Given the description of an element on the screen output the (x, y) to click on. 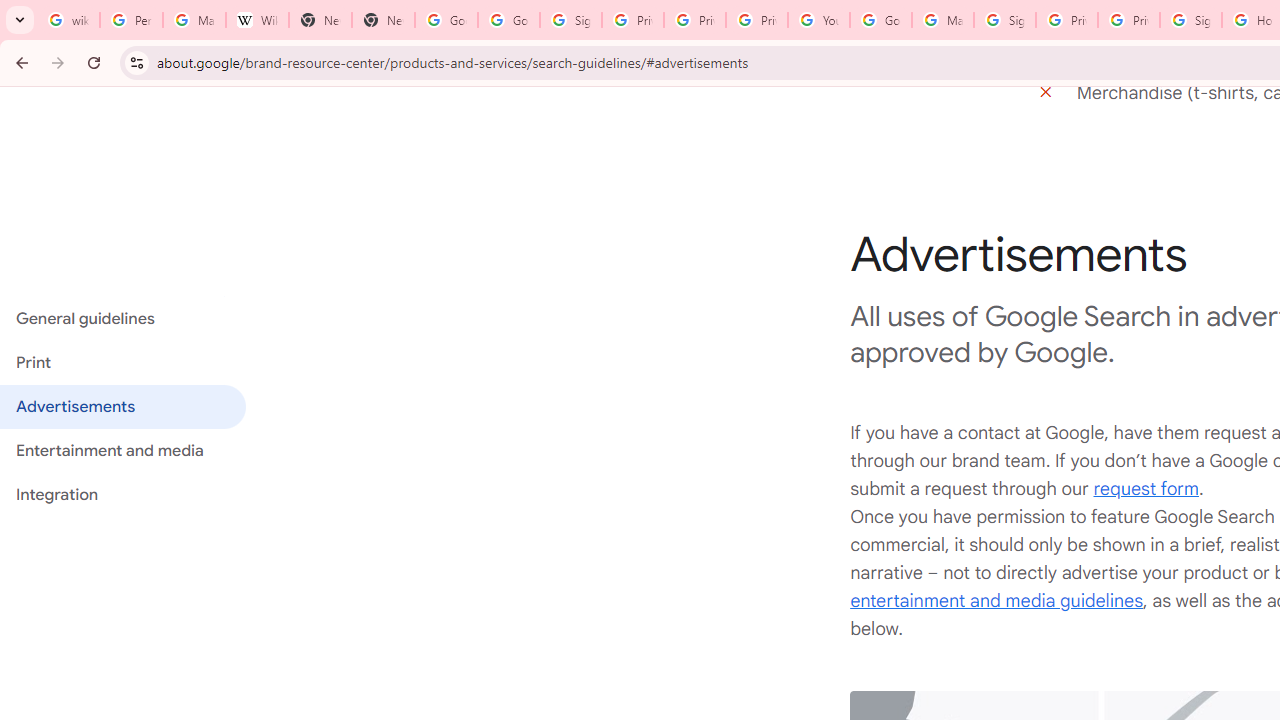
New Tab (320, 20)
Integration (122, 494)
Advertisements (122, 407)
Sign in - Google Accounts (1004, 20)
Google Account Help (880, 20)
Print (122, 363)
request form (1146, 489)
